Given the description of an element on the screen output the (x, y) to click on. 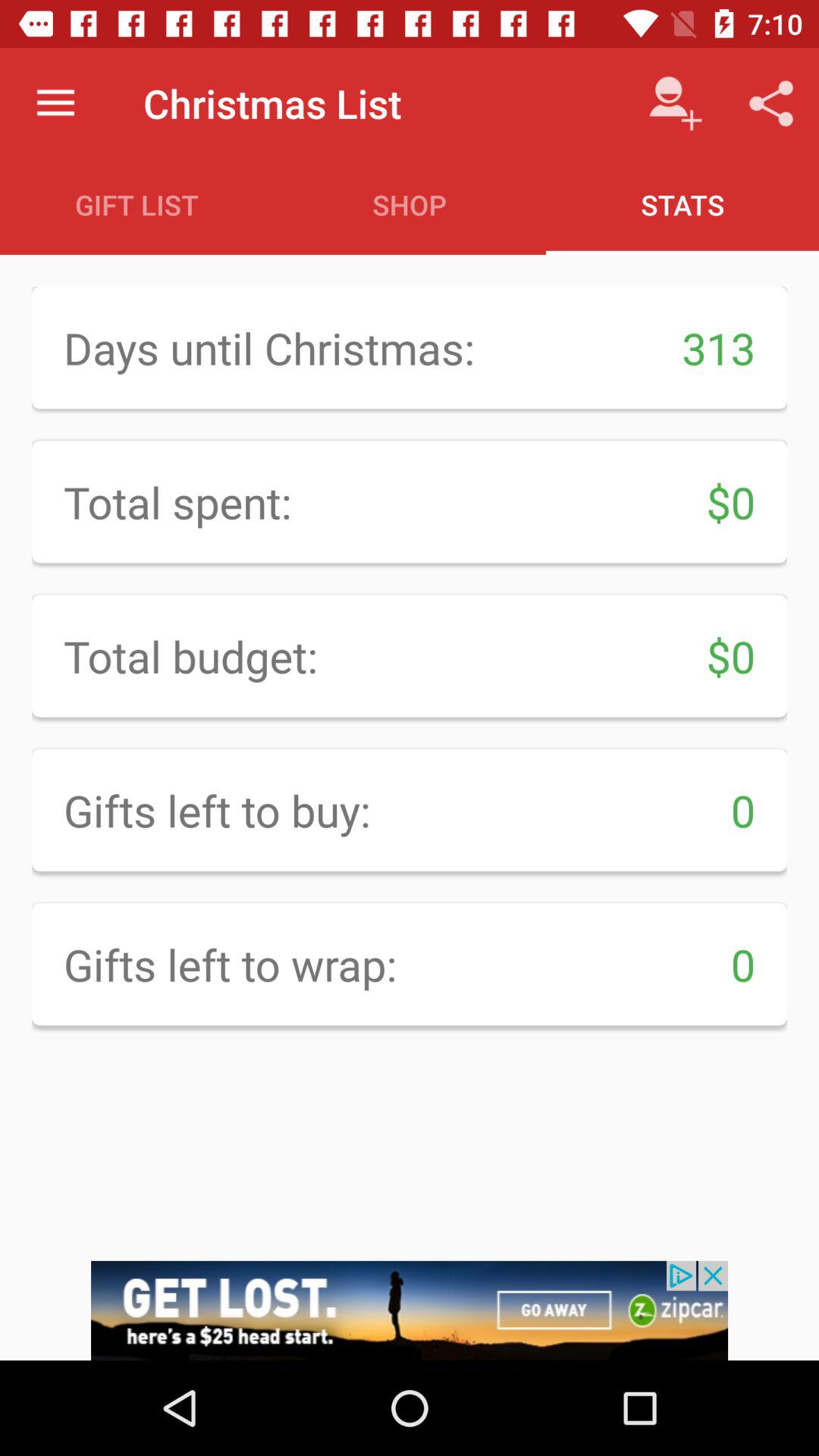
advertisement (409, 1310)
